Given the description of an element on the screen output the (x, y) to click on. 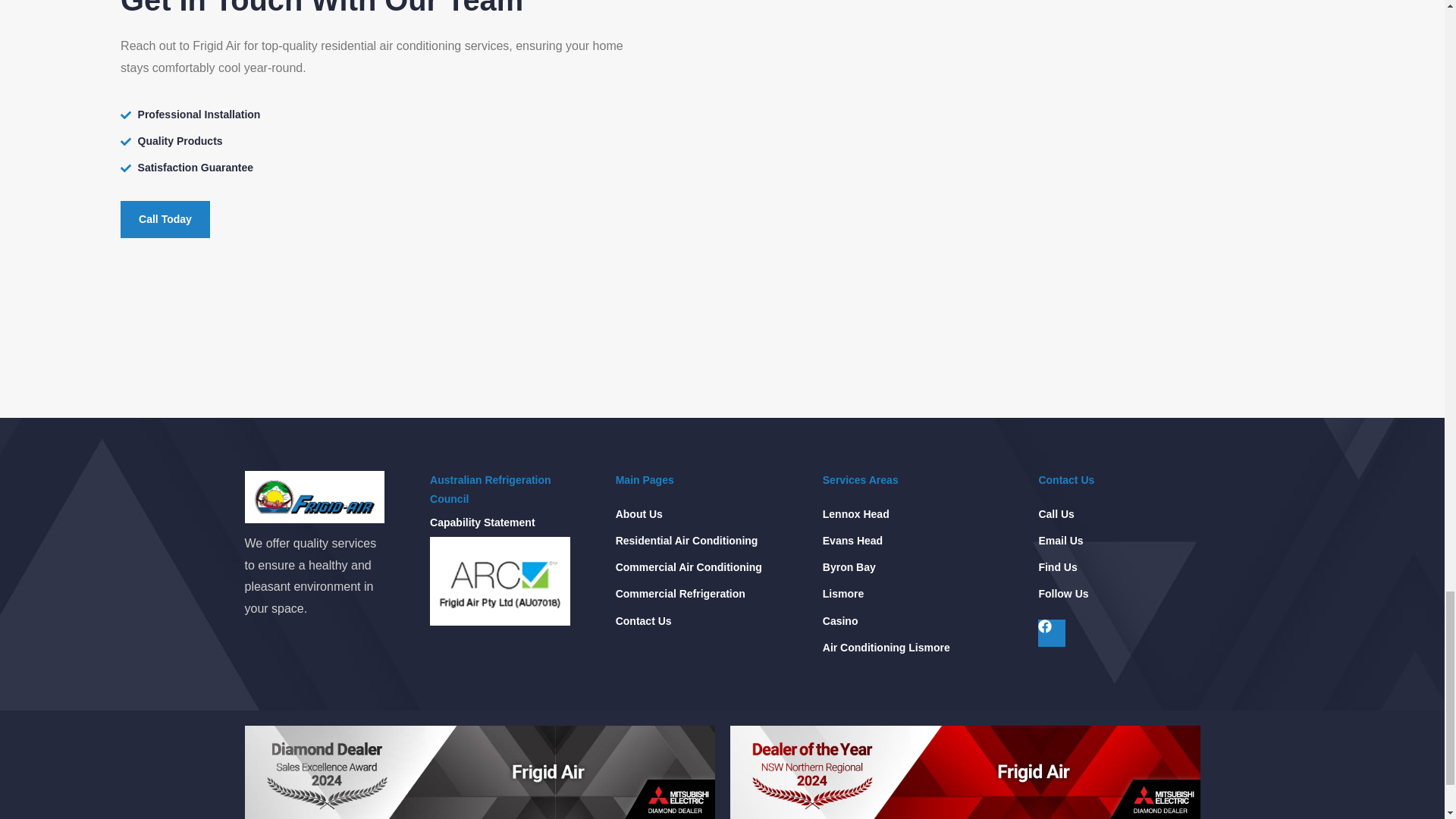
Commercial Air Conditioning (688, 567)
Air Conditioning Lismore (886, 647)
Satisfaction Guarantee (385, 167)
Call Us (1056, 514)
Commercial Refrigeration (680, 593)
Residential Air Conditioning (686, 540)
Contact Us (643, 620)
Call Today (164, 219)
Evans Head (852, 540)
Byron Bay (849, 567)
